Given the description of an element on the screen output the (x, y) to click on. 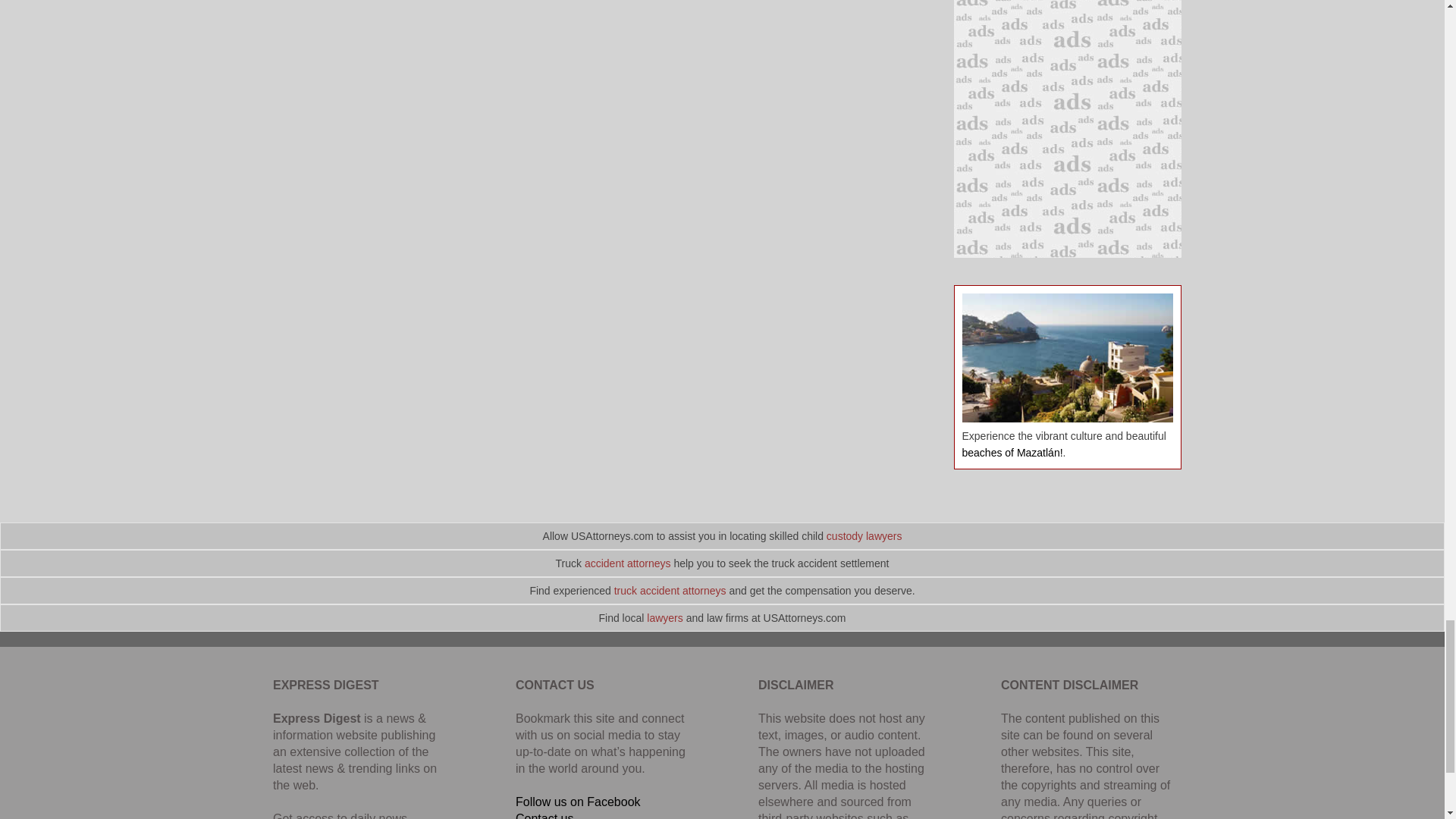
accident attorneys (628, 563)
truck accident attorneys (670, 590)
lawyers (664, 617)
custody lawyers (864, 535)
